Given the description of an element on the screen output the (x, y) to click on. 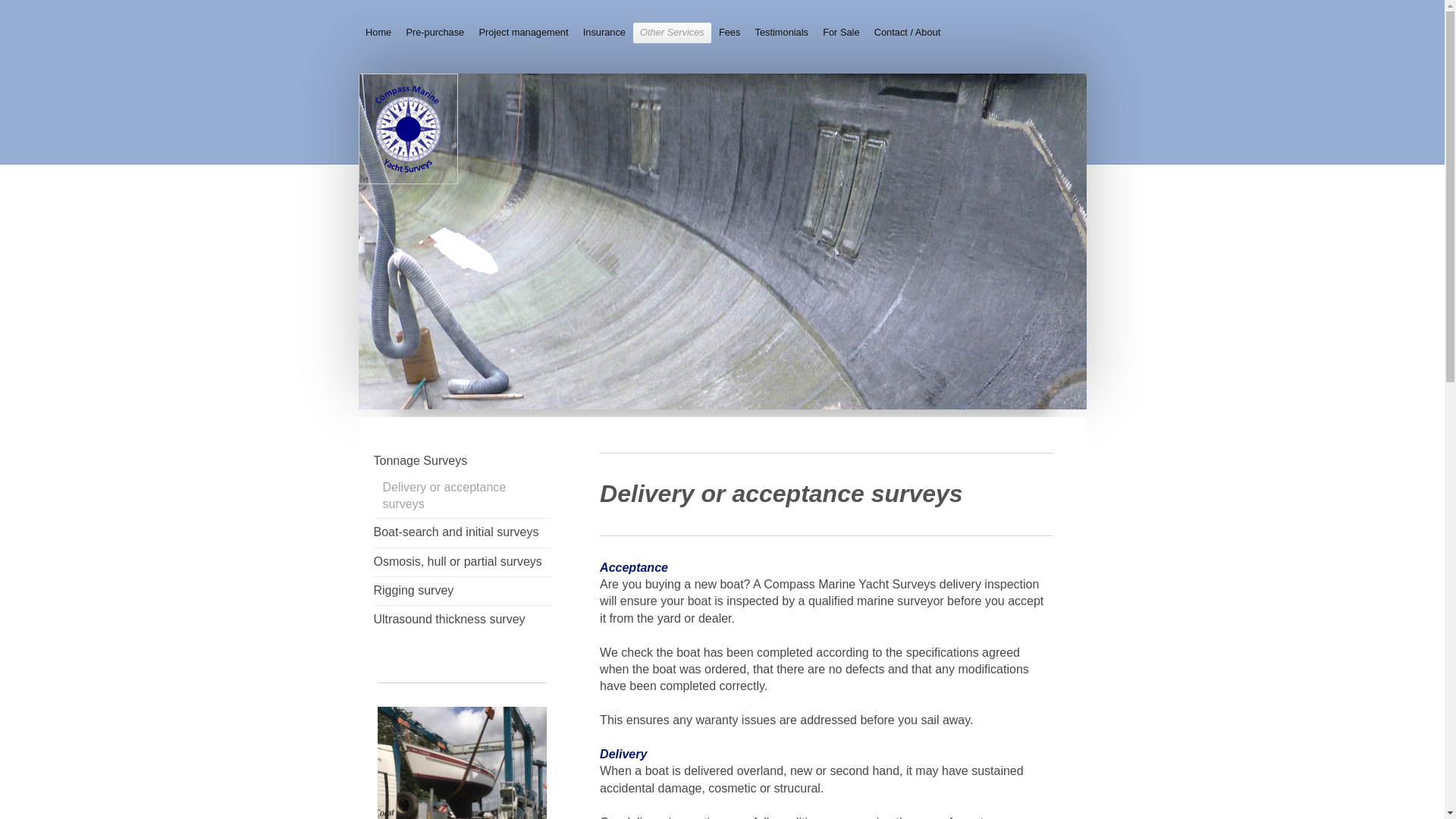
Project management (523, 32)
Other Services (671, 32)
For Sale (841, 32)
Pre-purchase (434, 32)
Testimonials (781, 32)
Fees (729, 32)
Delivery or acceptance surveys (461, 496)
Insurance (603, 32)
Home (377, 32)
Najad 390 loaded for transport (462, 762)
Tonnage Surveys (461, 460)
